Given the description of an element on the screen output the (x, y) to click on. 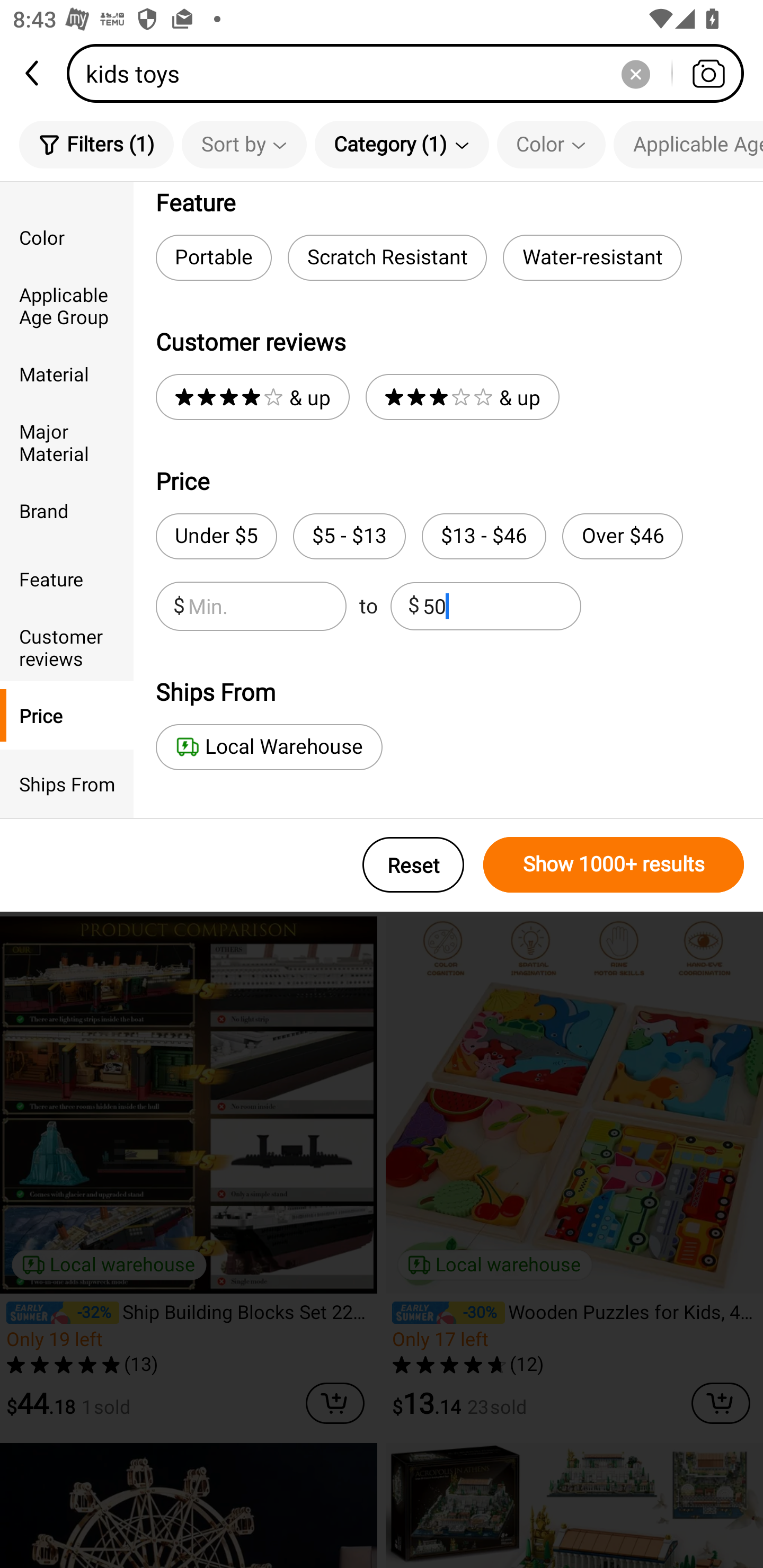
back (33, 72)
kids toys (411, 73)
Delete search history (635, 73)
Search by photo (708, 73)
Filters (1) (96, 143)
Sort by (243, 143)
Category (1) (401, 143)
Color (550, 143)
Applicable Age Group (688, 143)
Color (66, 236)
Portable (213, 257)
Scratch Resistant (386, 257)
Water-resistant (592, 257)
Applicable Age Group (66, 305)
Material (66, 373)
& up (252, 397)
& up (462, 397)
Major Material (66, 441)
Brand (66, 510)
Under $5 (215, 535)
$5 - $13 (348, 535)
$13 - $46 (483, 535)
Over $46 (622, 535)
Feature (66, 578)
$ Min. to $ 50 (368, 605)
Customer reviews (66, 646)
Price (66, 714)
Local Warehouse (268, 746)
Ships From (66, 783)
Reset (412, 864)
Show 1000+ results (612, 864)
